Given the description of an element on the screen output the (x, y) to click on. 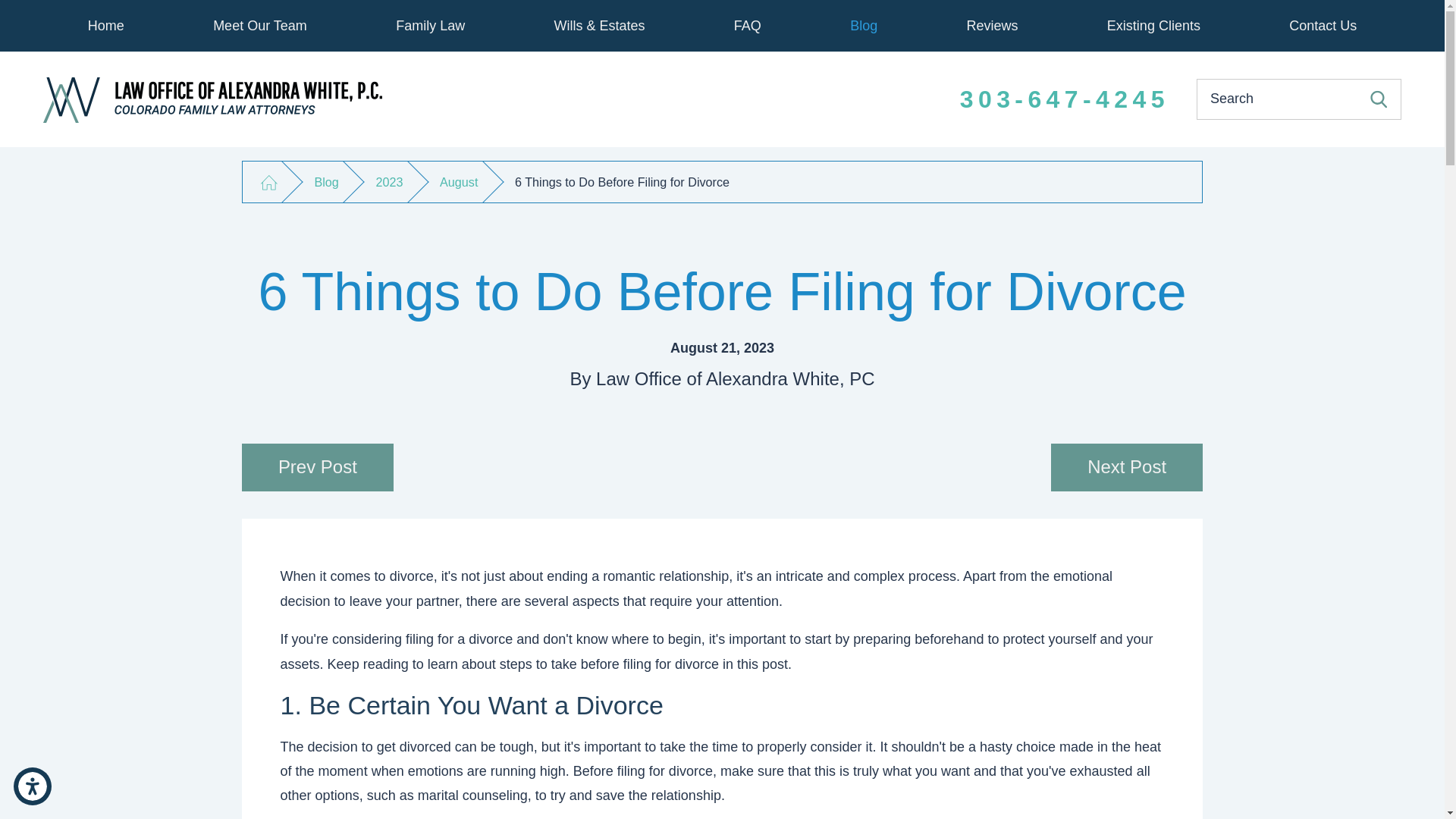
Meet Our Team (259, 25)
FAQ (746, 25)
Blog (863, 25)
Go Home (269, 181)
Open the accessibility options menu (31, 786)
Family Law (430, 25)
Search Icon (1378, 99)
Home (105, 25)
Search Our Site (1378, 99)
Law Office of Alexandra White, PC (212, 99)
